Given the description of an element on the screen output the (x, y) to click on. 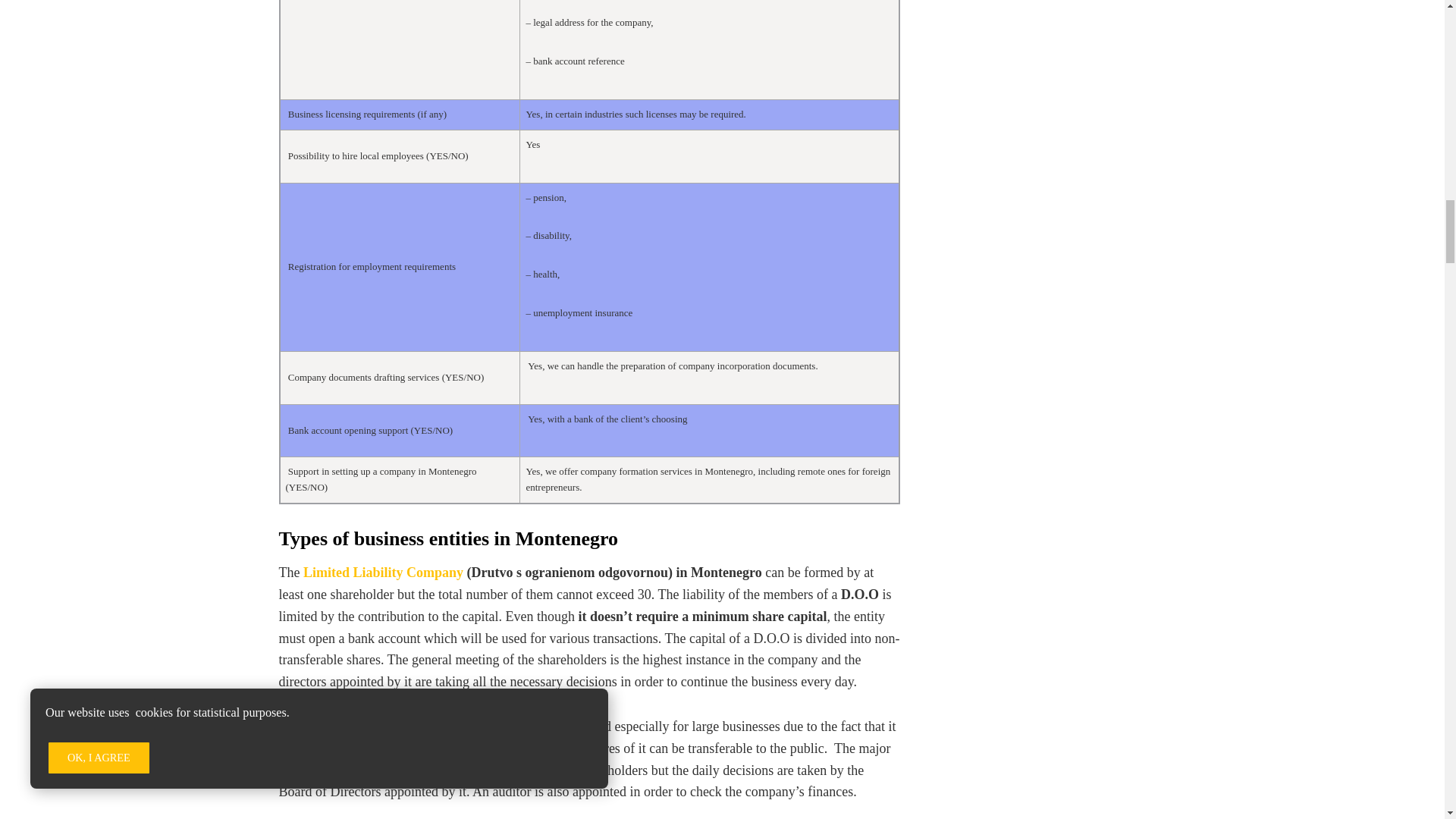
Limited Liability Company (382, 572)
